Given the description of an element on the screen output the (x, y) to click on. 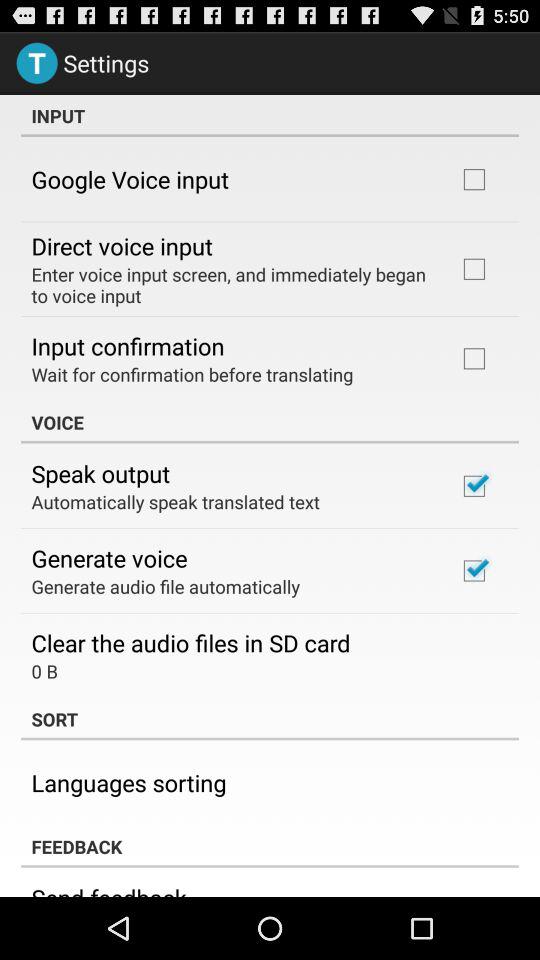
tap icon above generate audio file (109, 558)
